Given the description of an element on the screen output the (x, y) to click on. 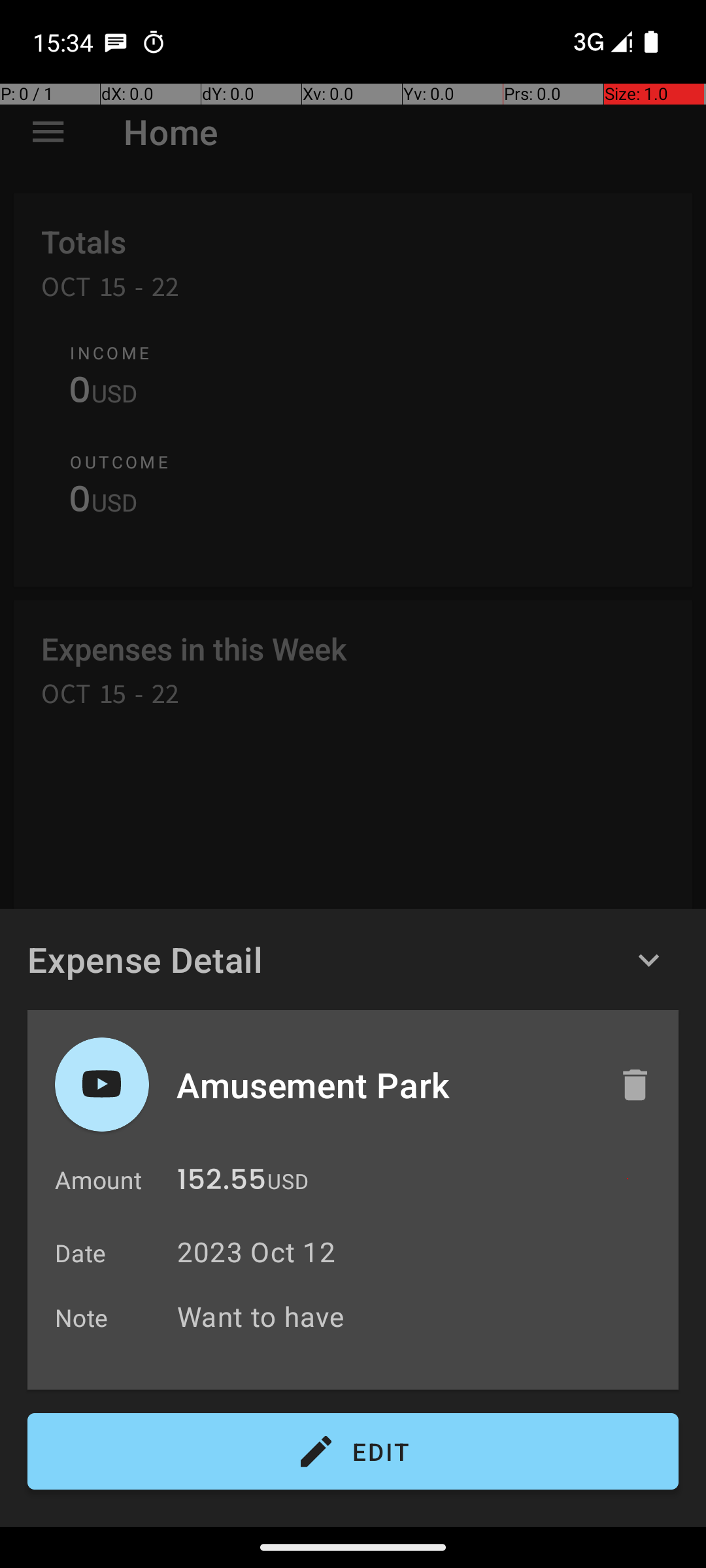
Amusement Park Element type: android.widget.TextView (383, 1084)
152.55 Element type: android.widget.TextView (221, 1182)
